Given the description of an element on the screen output the (x, y) to click on. 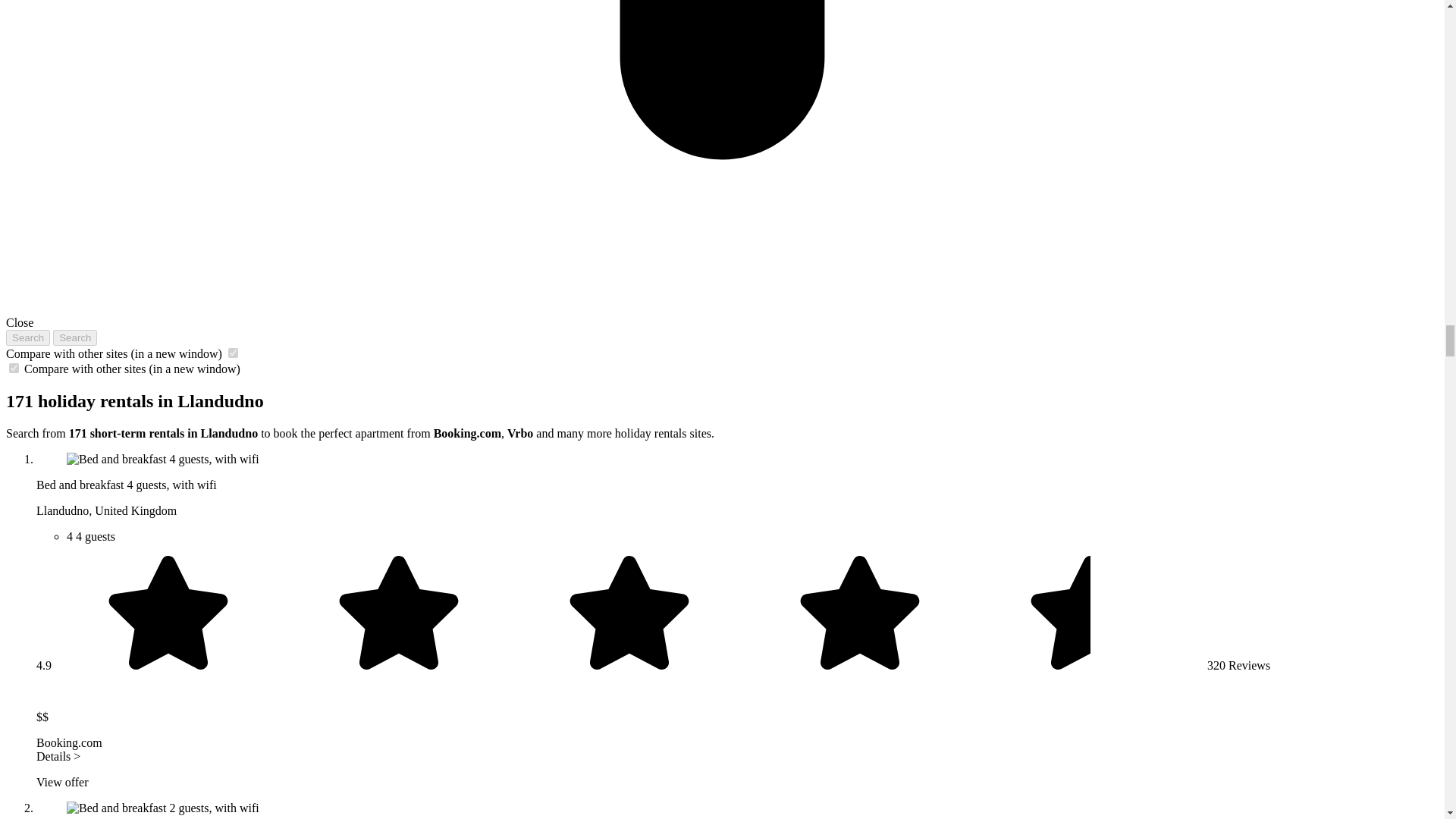
Search (27, 337)
on (233, 352)
Search (74, 337)
Search (27, 337)
on (13, 368)
Search (74, 337)
